Given the description of an element on the screen output the (x, y) to click on. 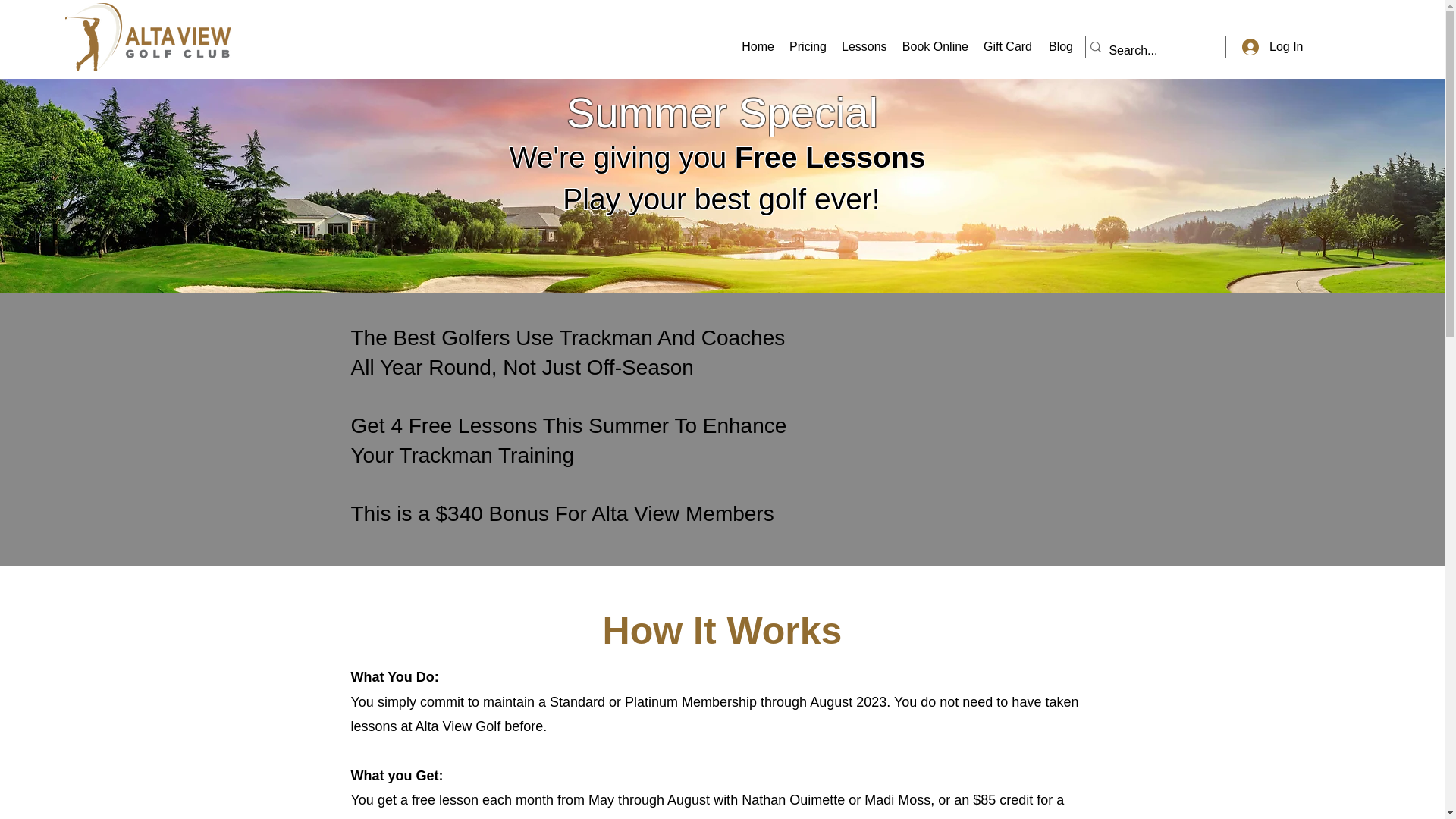
Home (756, 47)
Pricing (807, 47)
Gift Card (1007, 47)
Log In (1267, 46)
Blog (1059, 47)
Book Online (933, 47)
